Given the description of an element on the screen output the (x, y) to click on. 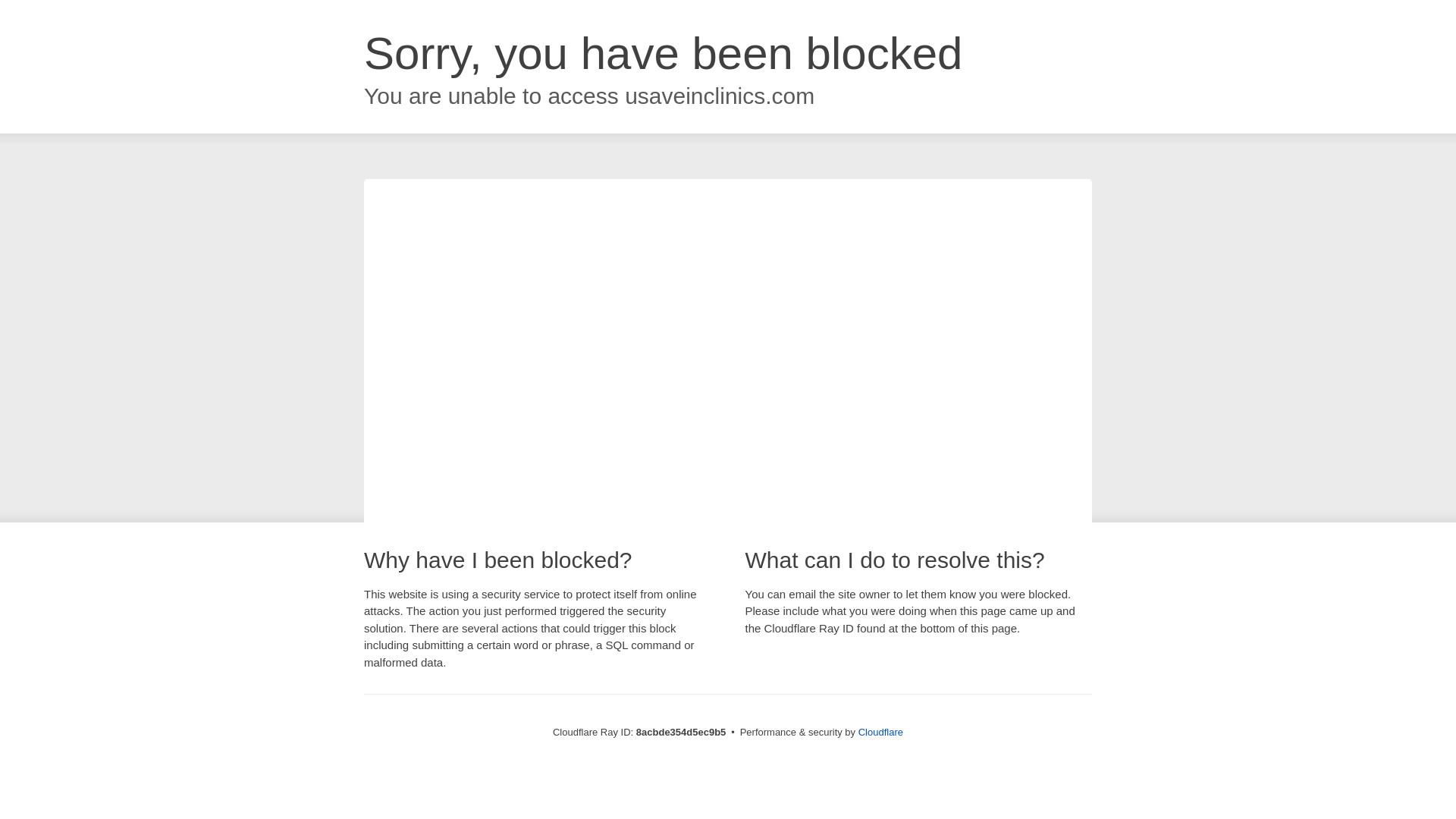
Cloudflare (880, 731)
